Given the description of an element on the screen output the (x, y) to click on. 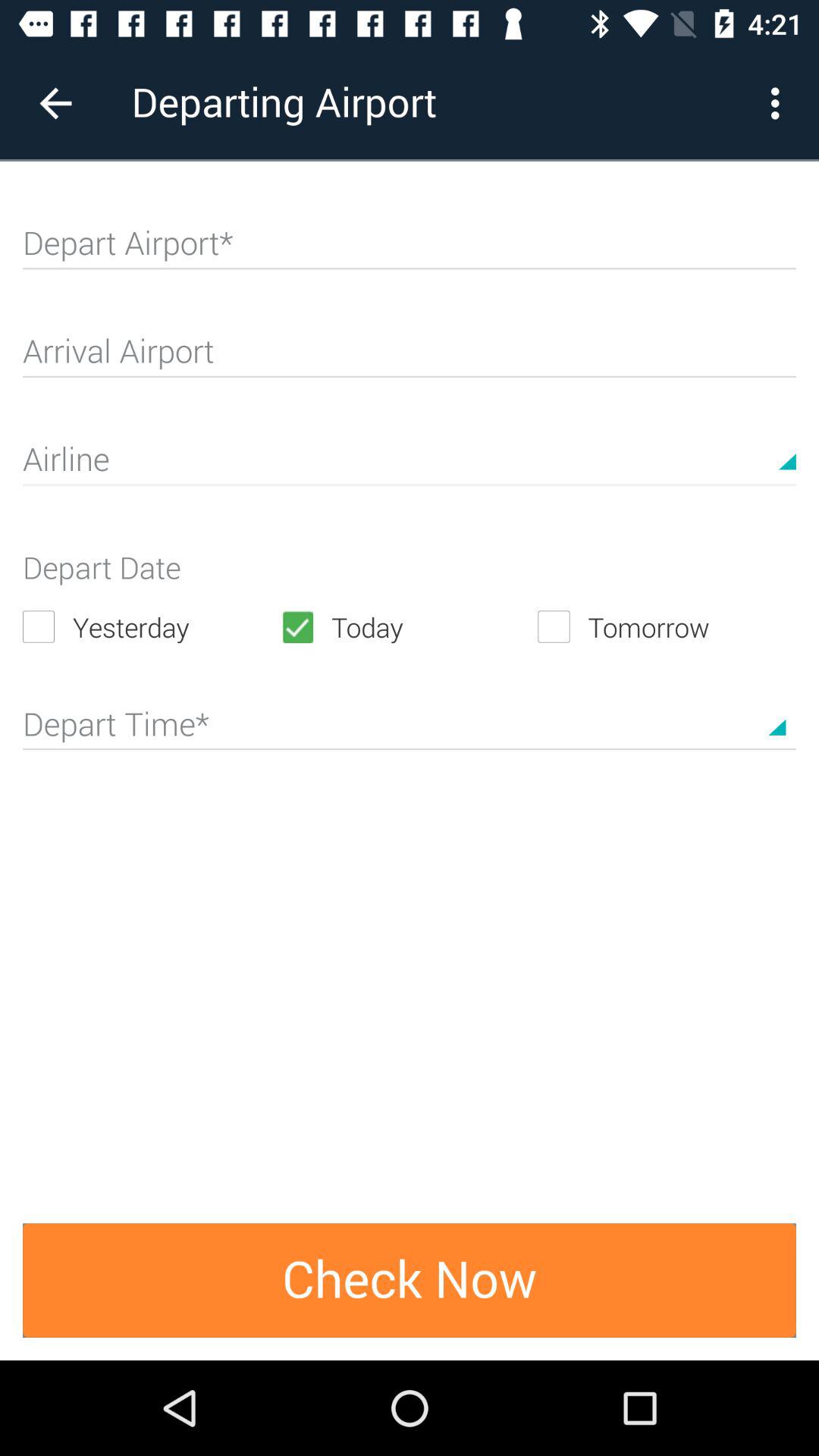
allows you to enter airport selection (409, 249)
